Given the description of an element on the screen output the (x, y) to click on. 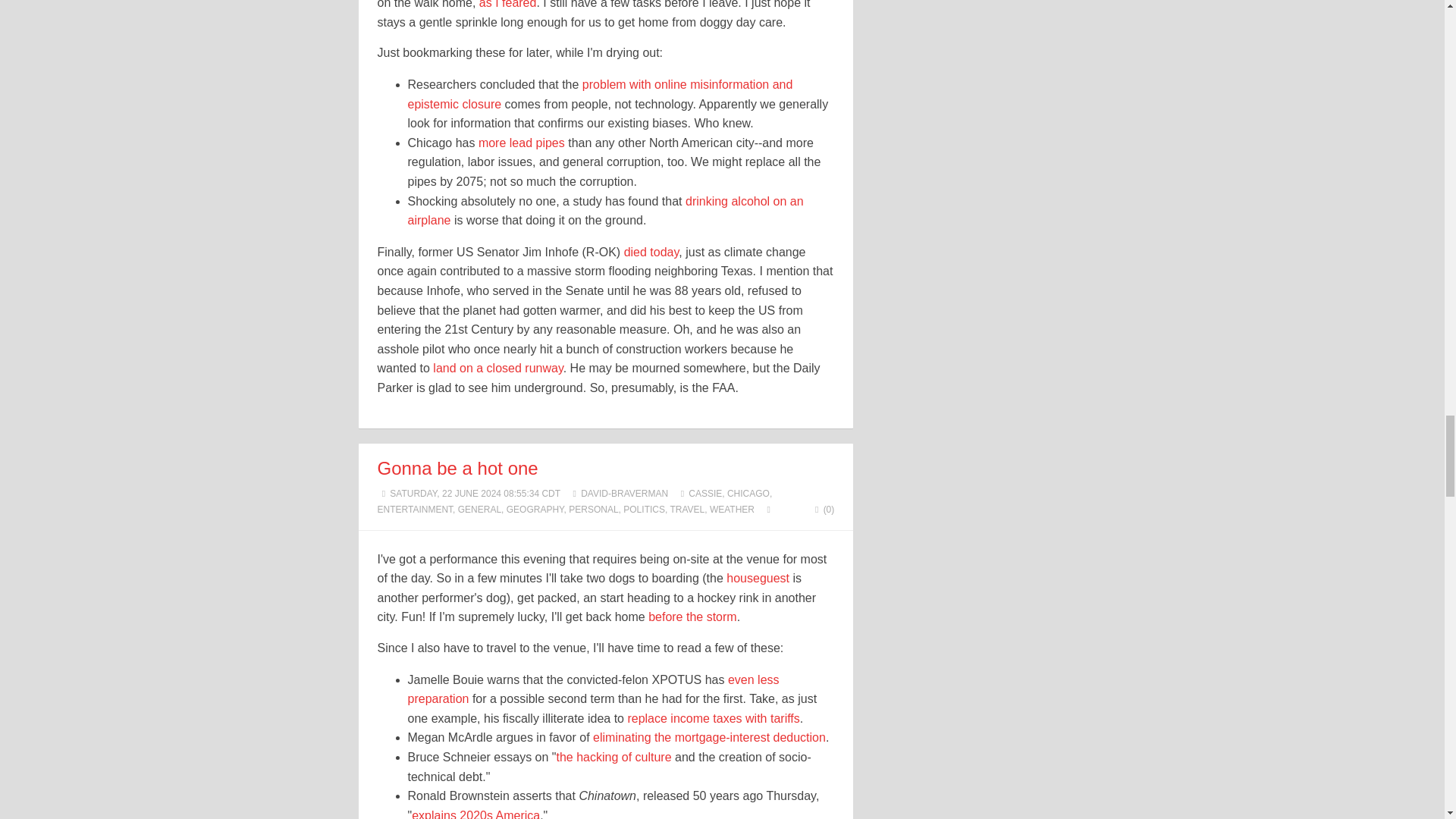
Open a map of the location where this post was written (767, 509)
